Given the description of an element on the screen output the (x, y) to click on. 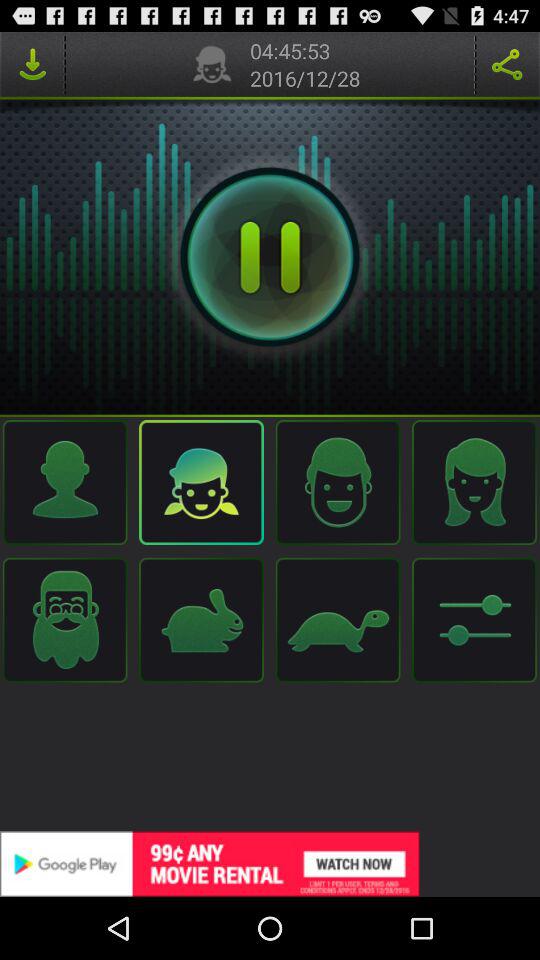
share the article (507, 64)
